Given the description of an element on the screen output the (x, y) to click on. 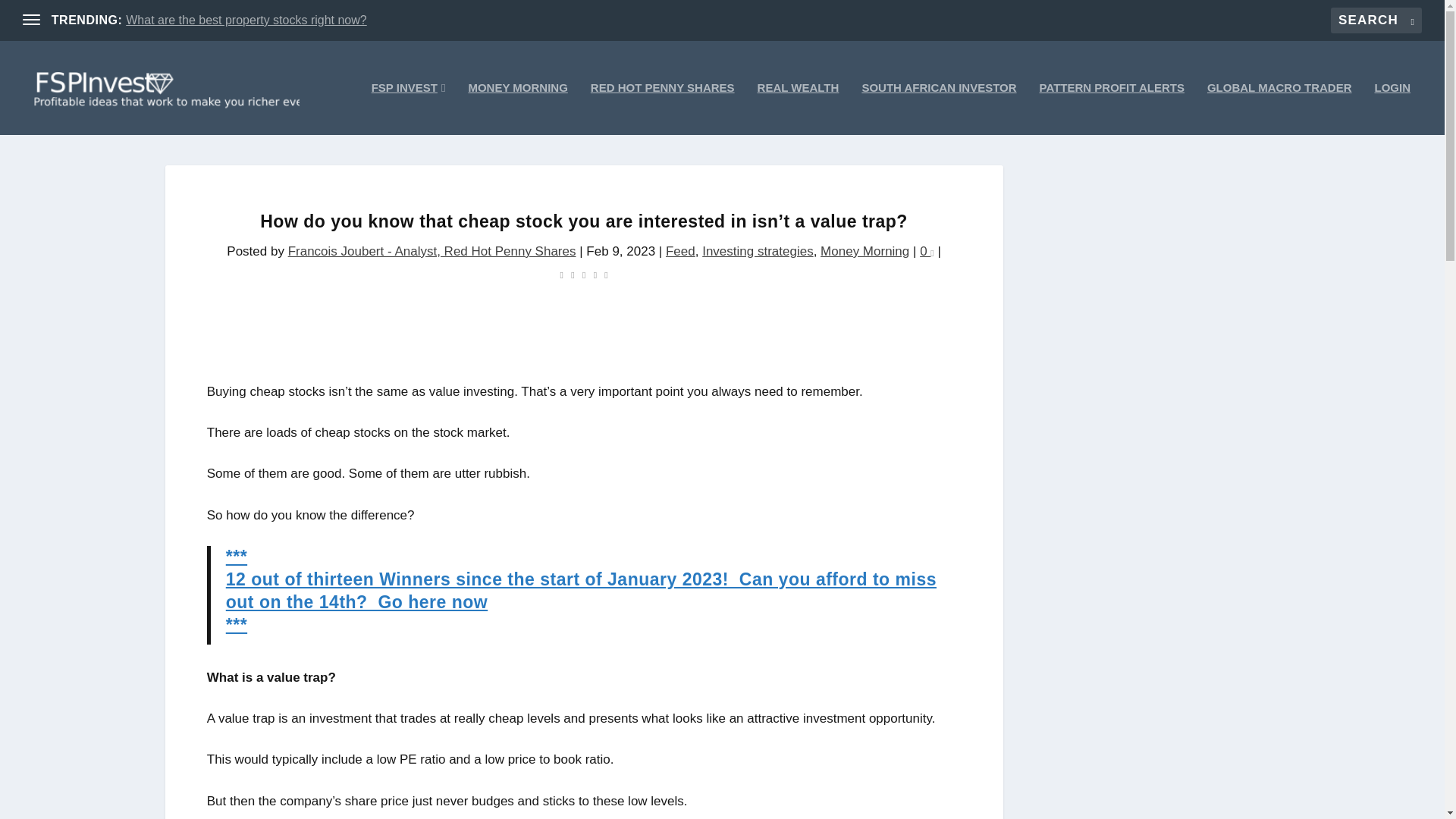
What are the best property stocks right now? (245, 19)
LOGIN (1392, 108)
0 (927, 251)
MONEY MORNING (517, 108)
REAL WEALTH (798, 108)
Rating: 0.00 (583, 273)
comment count (931, 252)
SOUTH AFRICAN INVESTOR (938, 108)
Money Morning (864, 251)
Feed (680, 251)
PATTERN PROFIT ALERTS (1112, 108)
GLOBAL MACRO TRADER (1279, 108)
Search for: (1376, 20)
Francois Joubert - Analyst, Red Hot Penny Shares (432, 251)
